Given the description of an element on the screen output the (x, y) to click on. 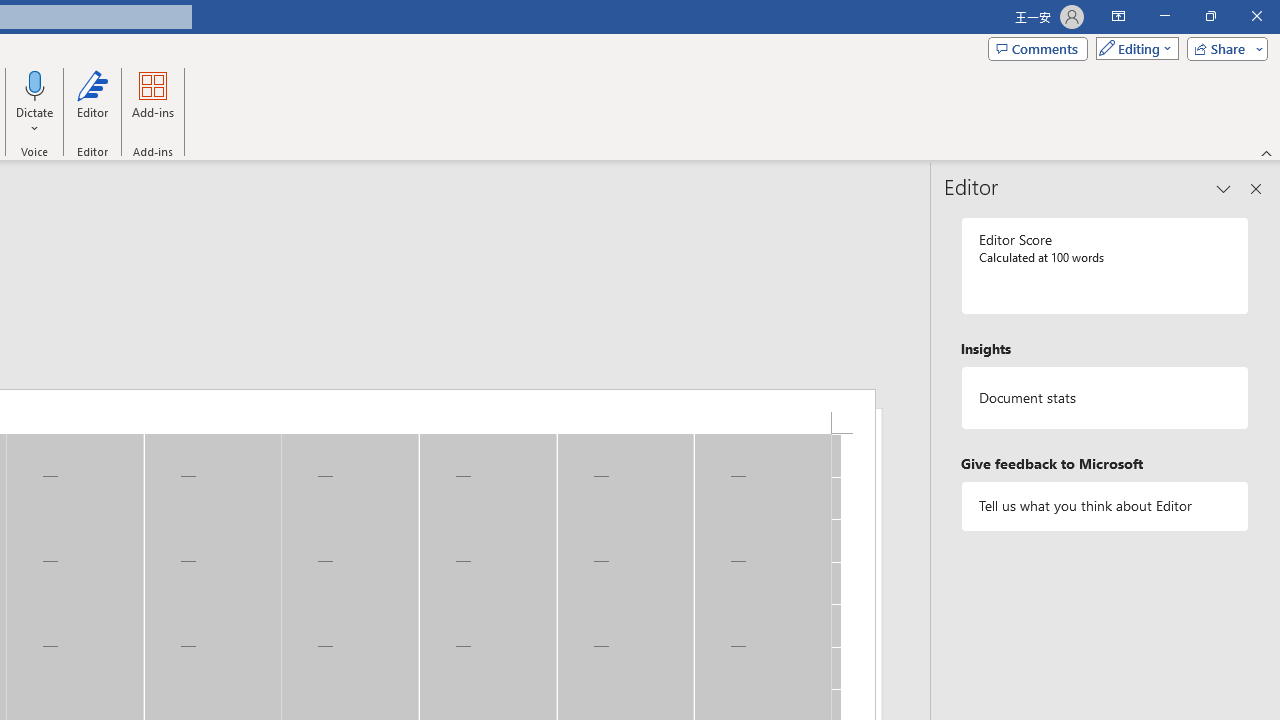
Document statistics (1105, 398)
Tell us what you think about Editor (1105, 506)
